Given the description of an element on the screen output the (x, y) to click on. 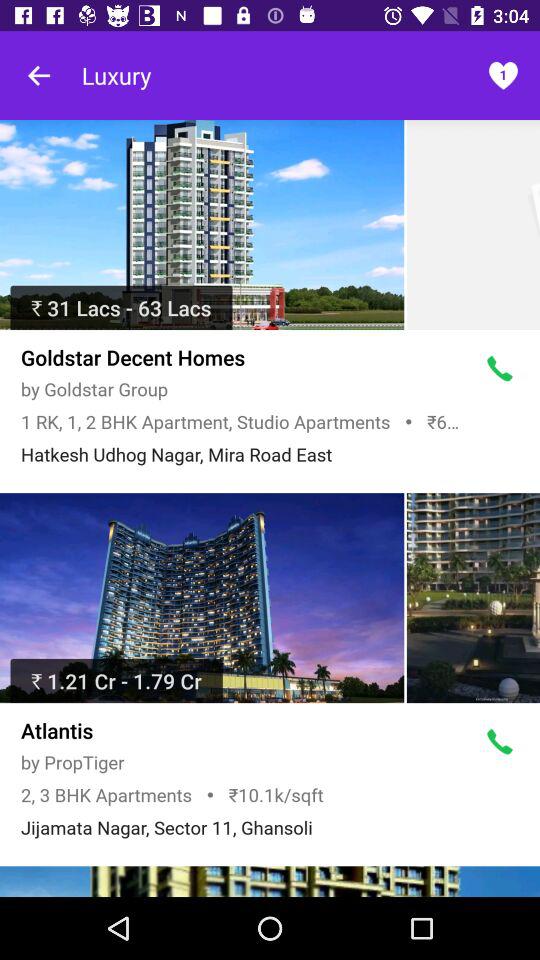
view this property (202, 225)
